Given the description of an element on the screen output the (x, y) to click on. 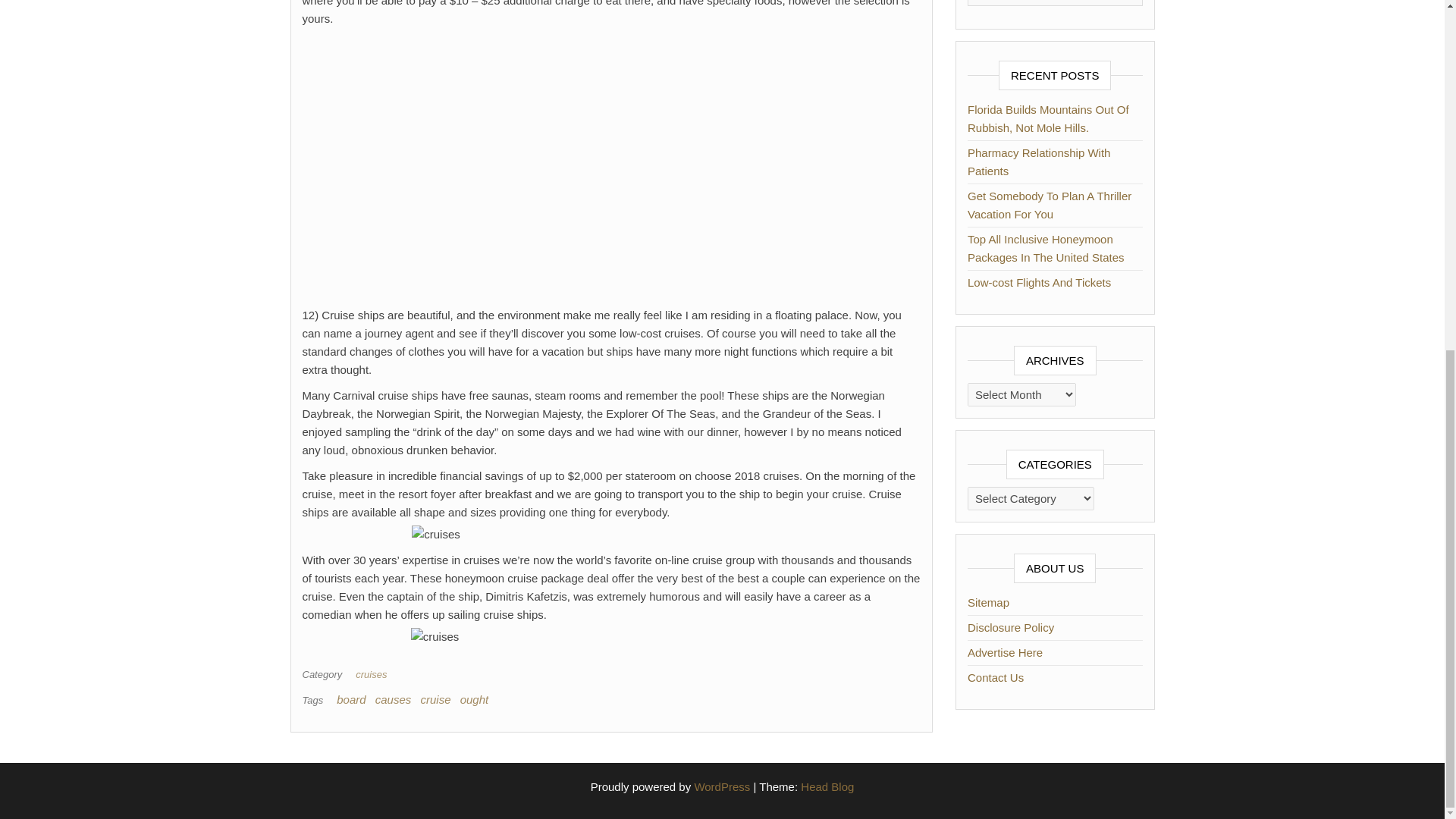
board (350, 698)
cruises (374, 674)
Pharmacy Relationship With Patients (1038, 161)
causes (393, 698)
Florida Builds Mountains Out Of Rubbish, Not Mole Hills. (1048, 118)
cruise (434, 698)
ought (474, 698)
Get Somebody To Plan A Thriller Vacation For You (1049, 204)
